Given the description of an element on the screen output the (x, y) to click on. 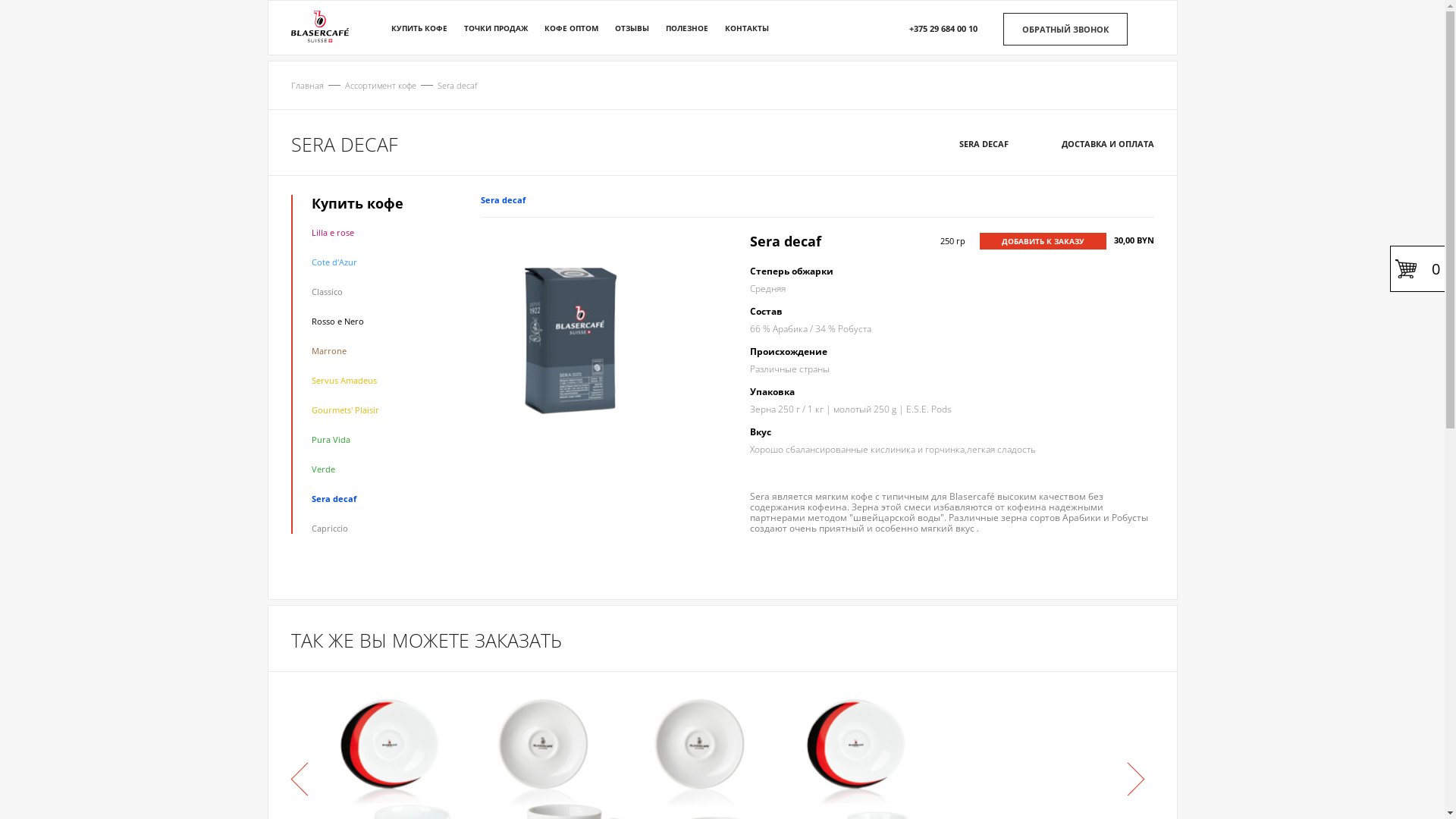
Gourmets' Plaisir Element type: text (344, 409)
Verde Element type: text (322, 468)
+375 29 684 00 10 Element type: text (942, 28)
Marrone Element type: text (327, 350)
Cote d'Azur Element type: text (333, 261)
Servus Amadeus Element type: text (343, 379)
0 Element type: text (1417, 268)
Classico Element type: text (326, 291)
Rosso e Nero Element type: text (336, 320)
Pura Vida Element type: text (329, 439)
Capriccio Element type: text (328, 527)
Lilla e rose Element type: text (331, 232)
SERA DECAF Element type: text (982, 143)
